Given the description of an element on the screen output the (x, y) to click on. 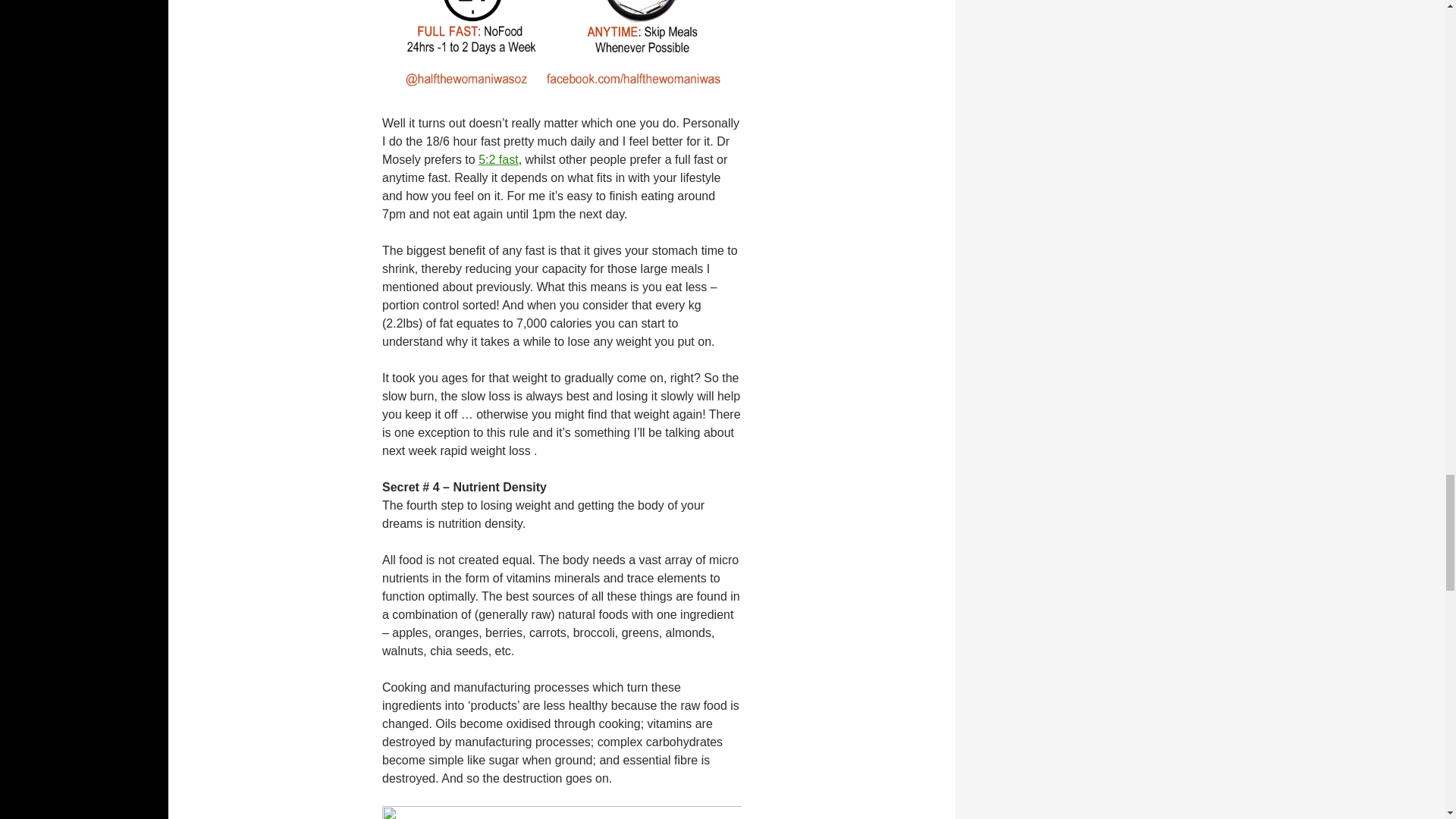
5:2 fast (498, 159)
